Given the description of an element on the screen output the (x, y) to click on. 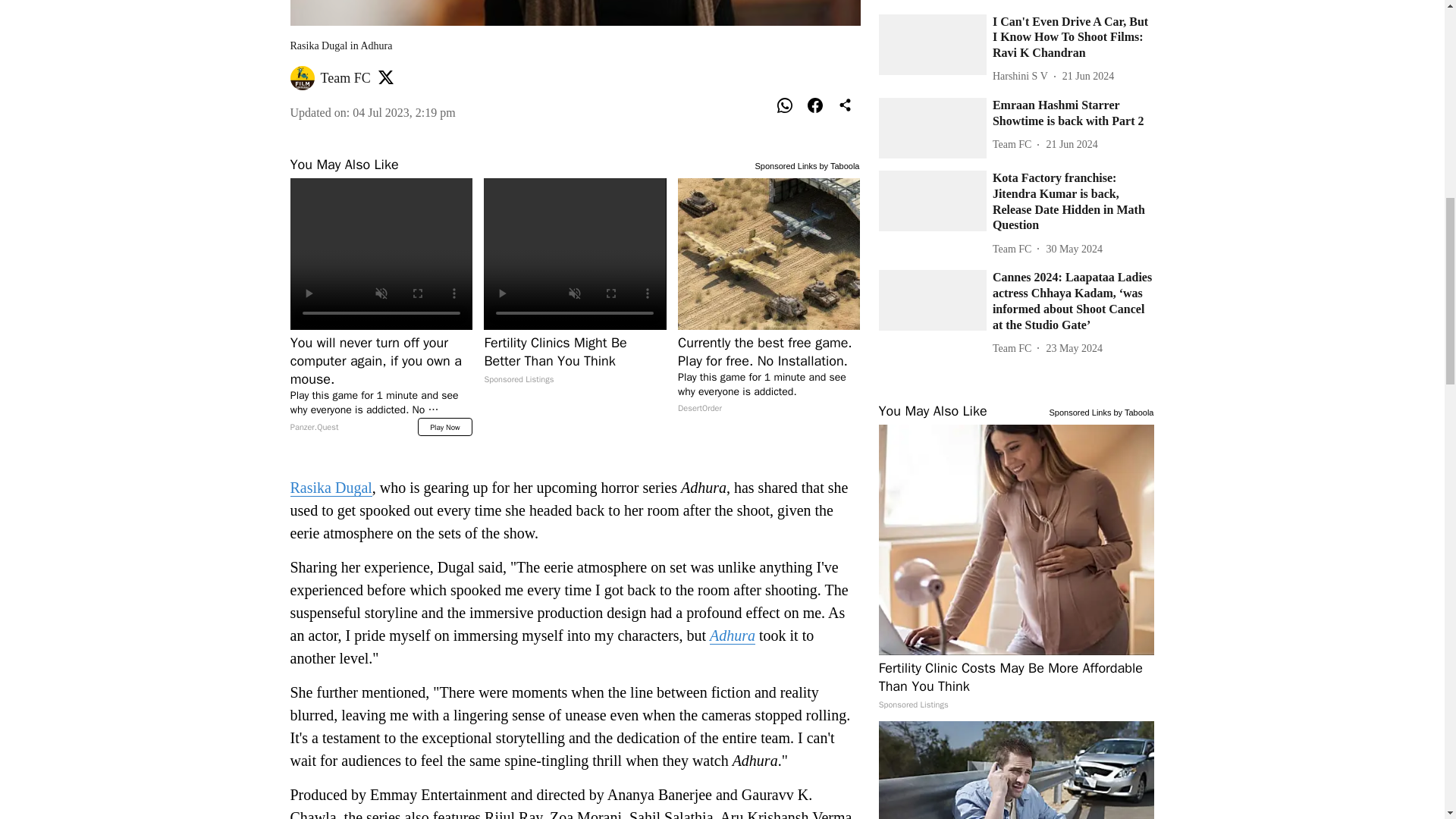
Fertility Clinics Might Be Better Than You Think (574, 254)
Fertility Clinics Might Be Better Than You Think (574, 360)
